Given the description of an element on the screen output the (x, y) to click on. 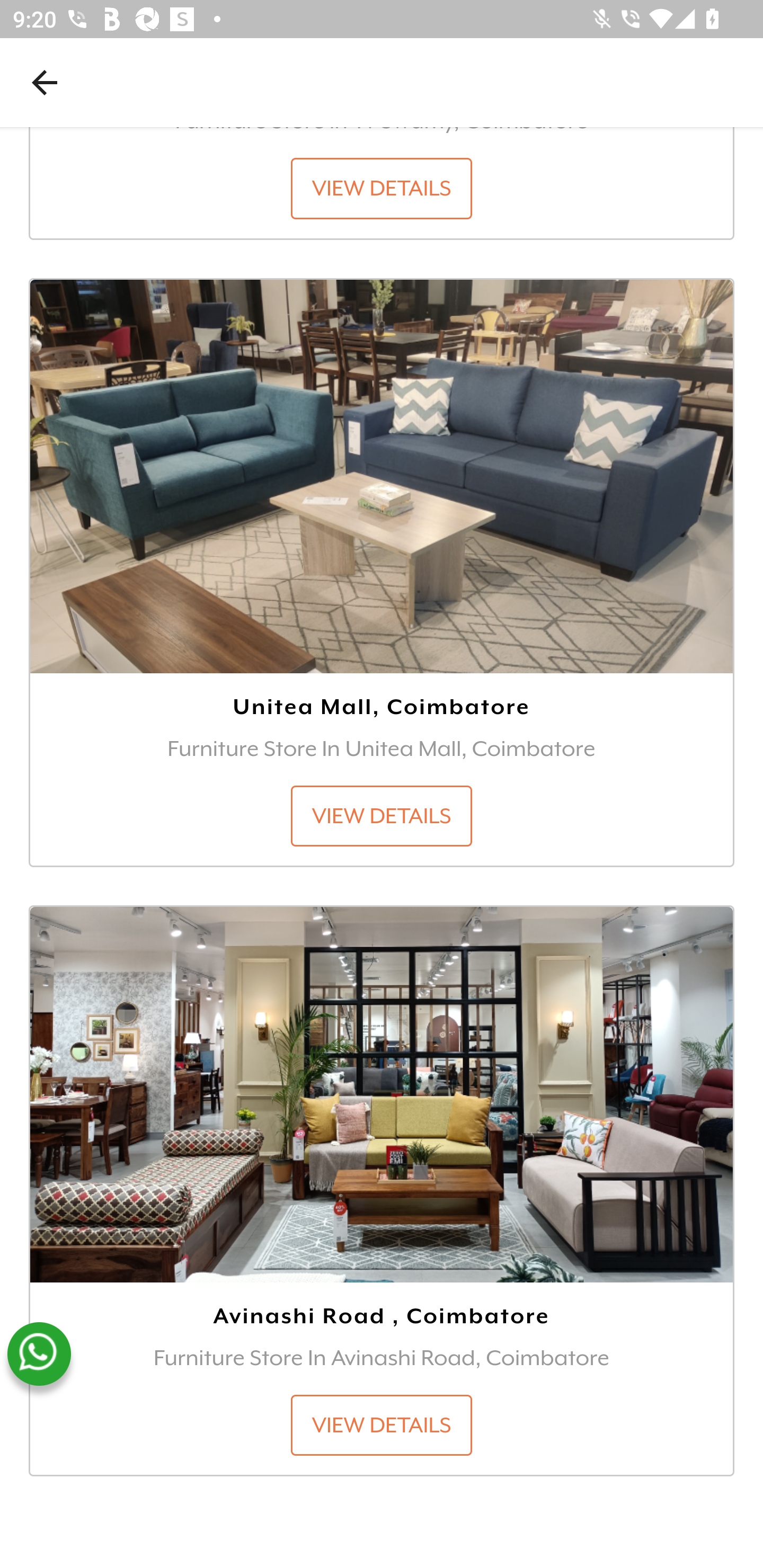
Navigate up (44, 82)
VIEW DETAILS (381, 187)
VIEW DETAILS (381, 815)
whatsapp (38, 1353)
VIEW DETAILS (381, 1424)
